Given the description of an element on the screen output the (x, y) to click on. 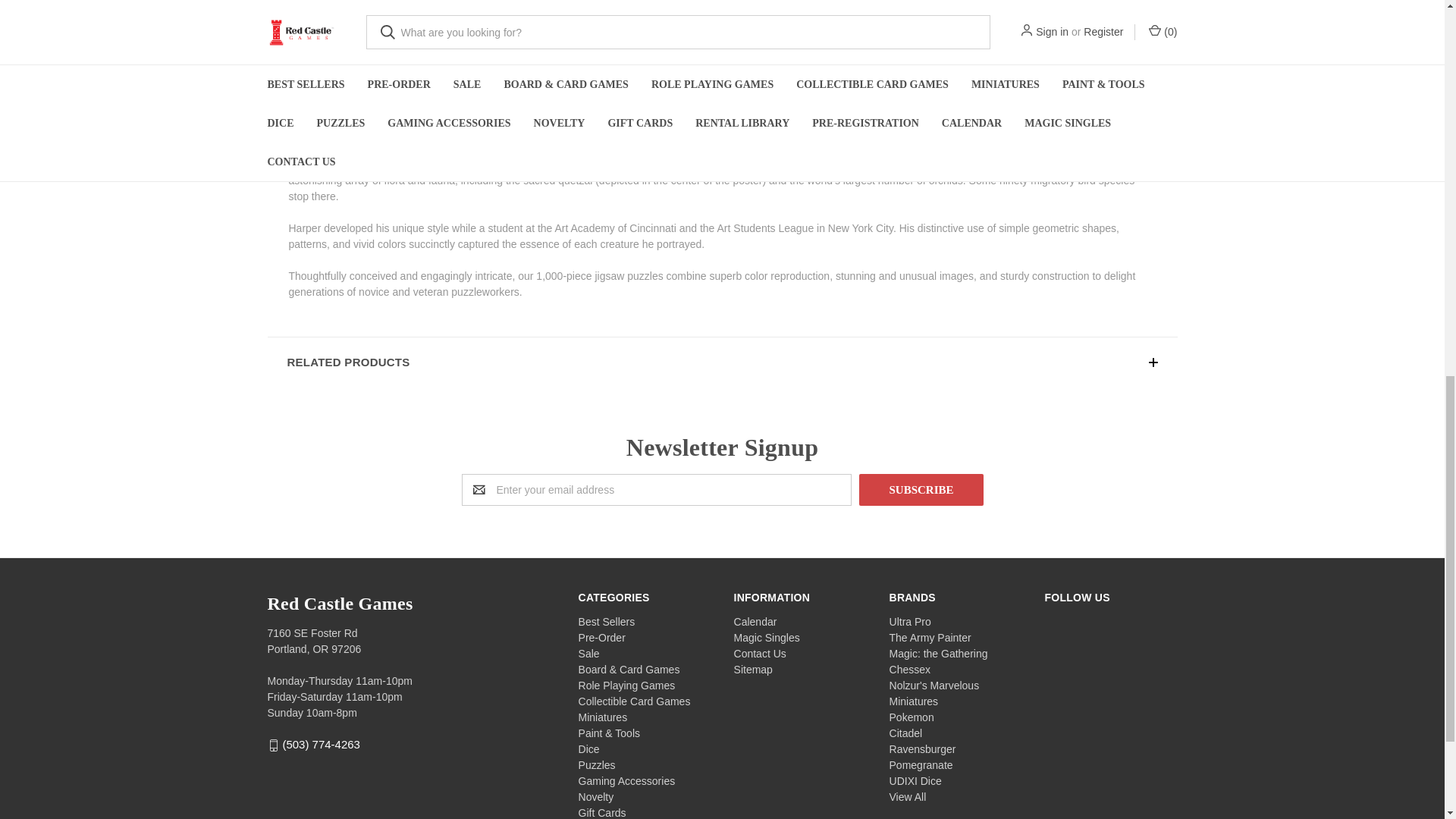
Subscribe (920, 490)
